Given the description of an element on the screen output the (x, y) to click on. 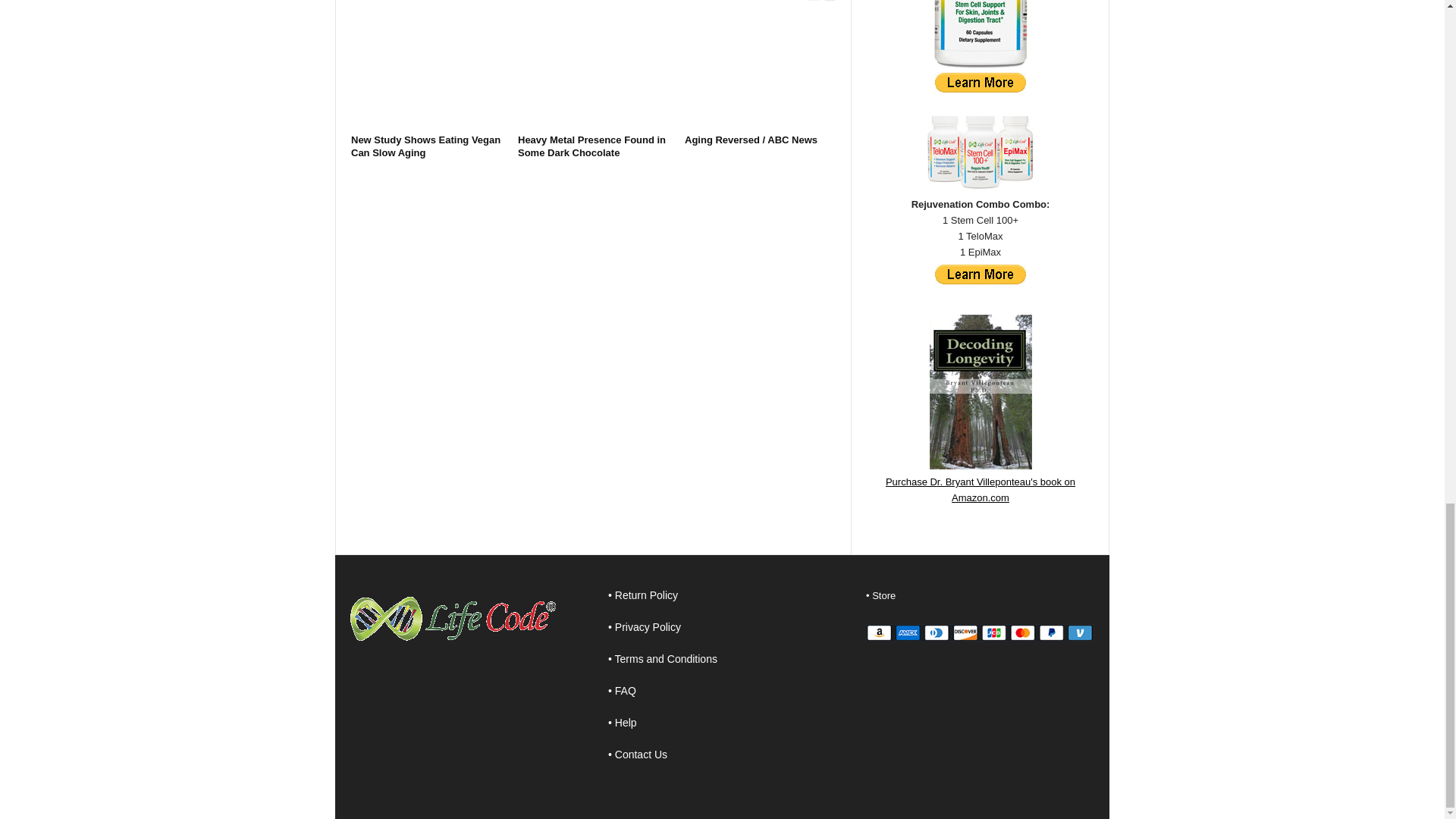
Heavy Metal Presence Found in Some Dark Chocolate (591, 146)
Heavy Metal Presence Found in Some Dark Chocolate (591, 146)
Heavy Metal Presence Found in Some Dark Chocolate (593, 71)
New Study Shows Eating Vegan Can Slow Aging (426, 71)
New Study Shows Eating Vegan Can Slow Aging (425, 146)
New Study Shows Eating Vegan Can Slow Aging (425, 146)
